Given the description of an element on the screen output the (x, y) to click on. 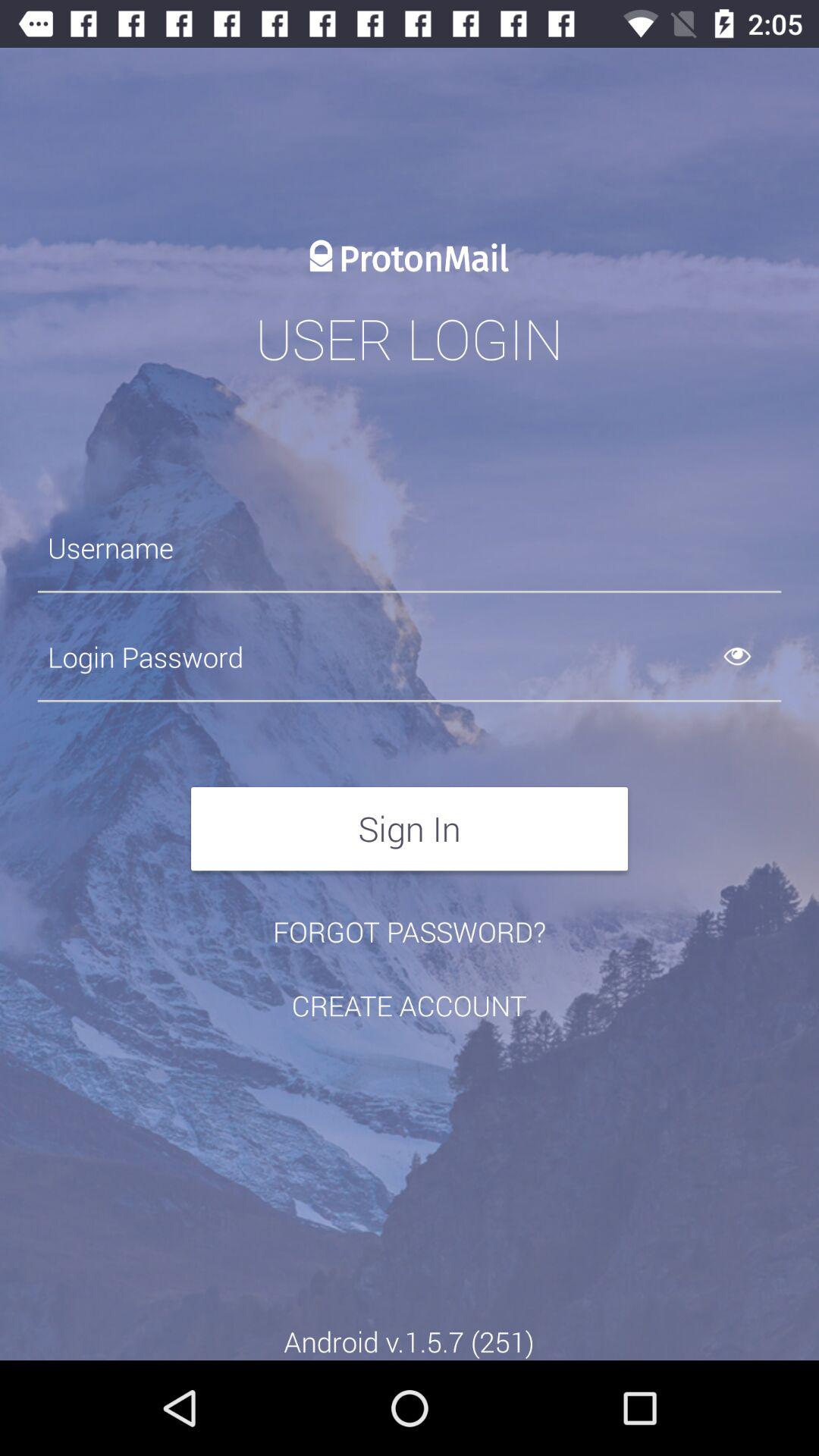
tap the sign in item (409, 828)
